Given the description of an element on the screen output the (x, y) to click on. 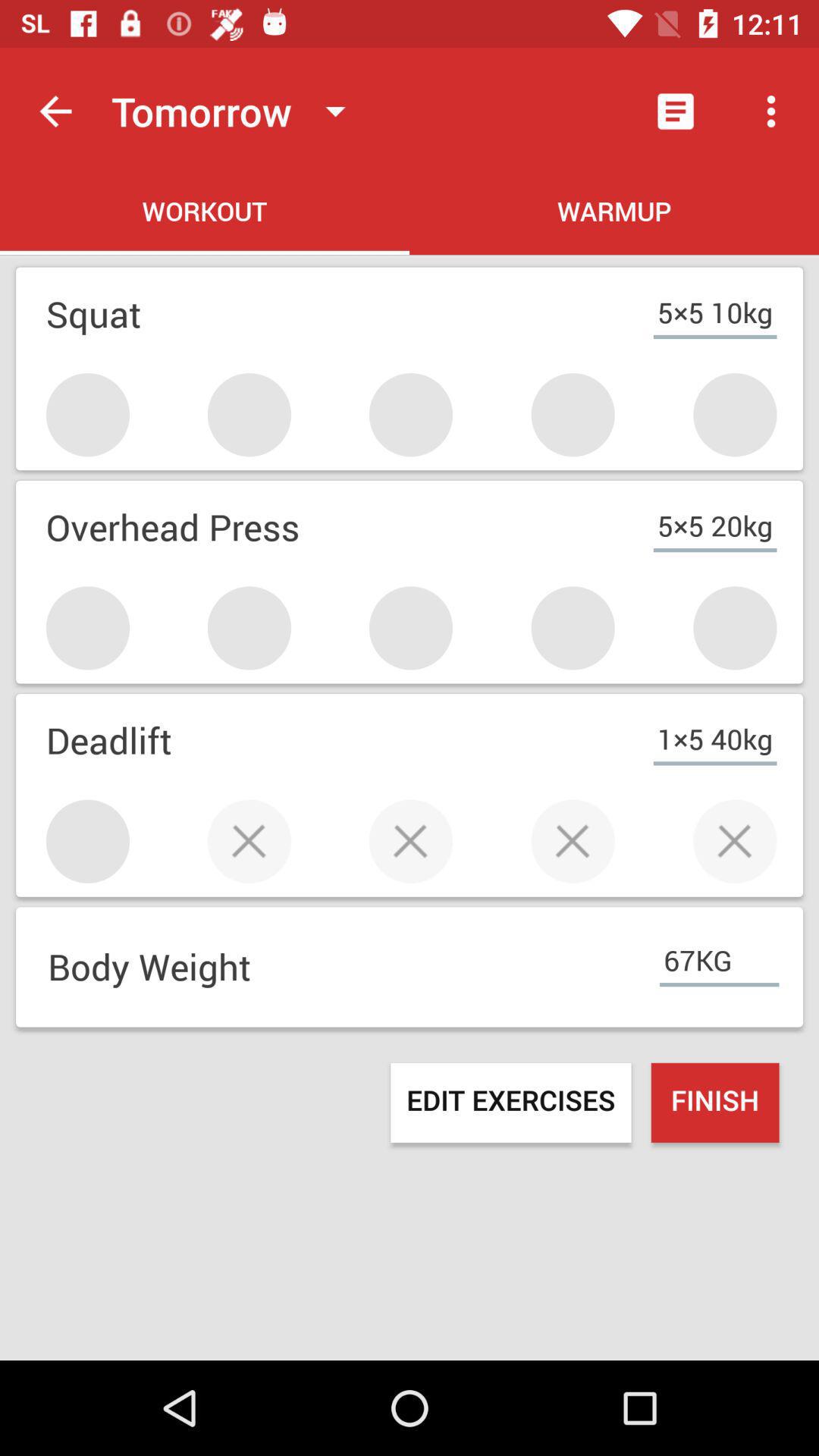
click finish item (715, 1102)
